Given the description of an element on the screen output the (x, y) to click on. 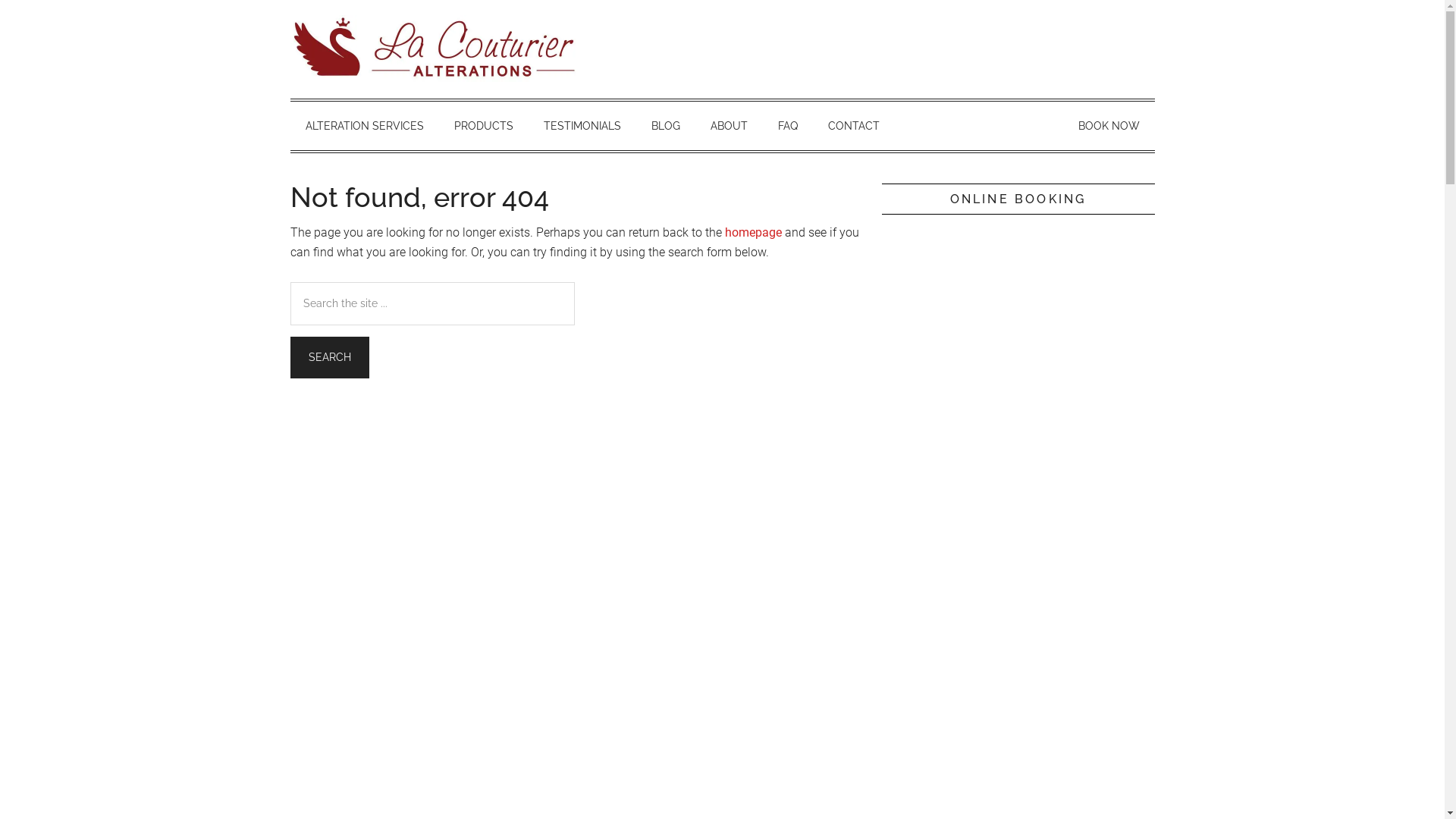
TESTIMONIALS Element type: text (581, 125)
PRODUCTS Element type: text (482, 125)
BLOG Element type: text (664, 125)
BOOK NOW Element type: text (1108, 125)
Skip to main content Element type: text (0, 0)
ALTERATION SERVICES Element type: text (363, 125)
FAQ Element type: text (787, 125)
homepage Element type: text (752, 232)
Search Element type: text (328, 357)
CONTACT Element type: text (853, 125)
La Couturier Alterations Element type: text (433, 49)
ABOUT Element type: text (728, 125)
